Given the description of an element on the screen output the (x, y) to click on. 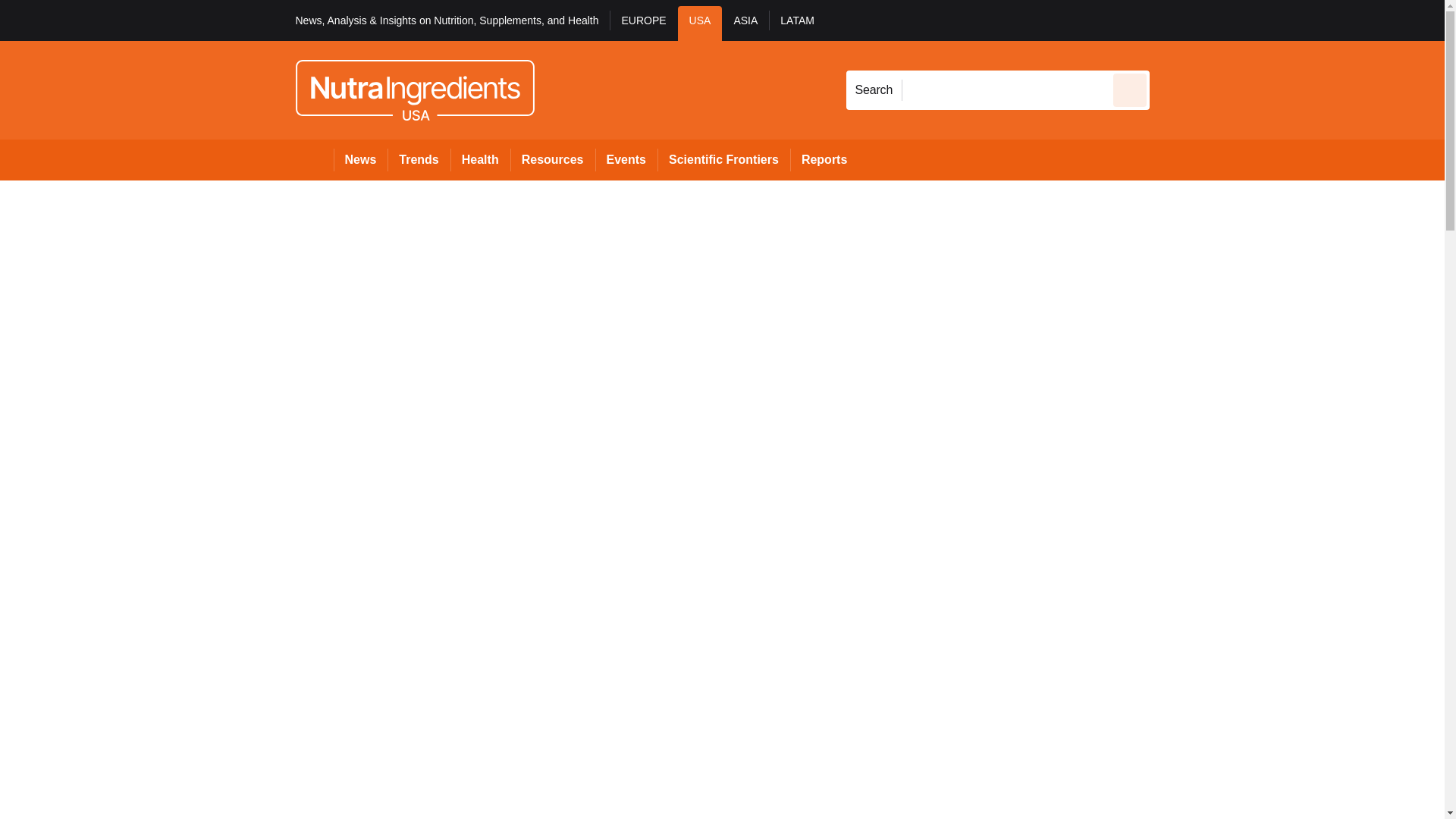
Trends (418, 159)
News (360, 159)
Sign in (1171, 20)
SUBSCRIBE (1318, 20)
EUROPE (643, 22)
Home (313, 159)
Home (314, 159)
LATAM (796, 22)
ASIA (745, 22)
Send (1129, 90)
